Given the description of an element on the screen output the (x, y) to click on. 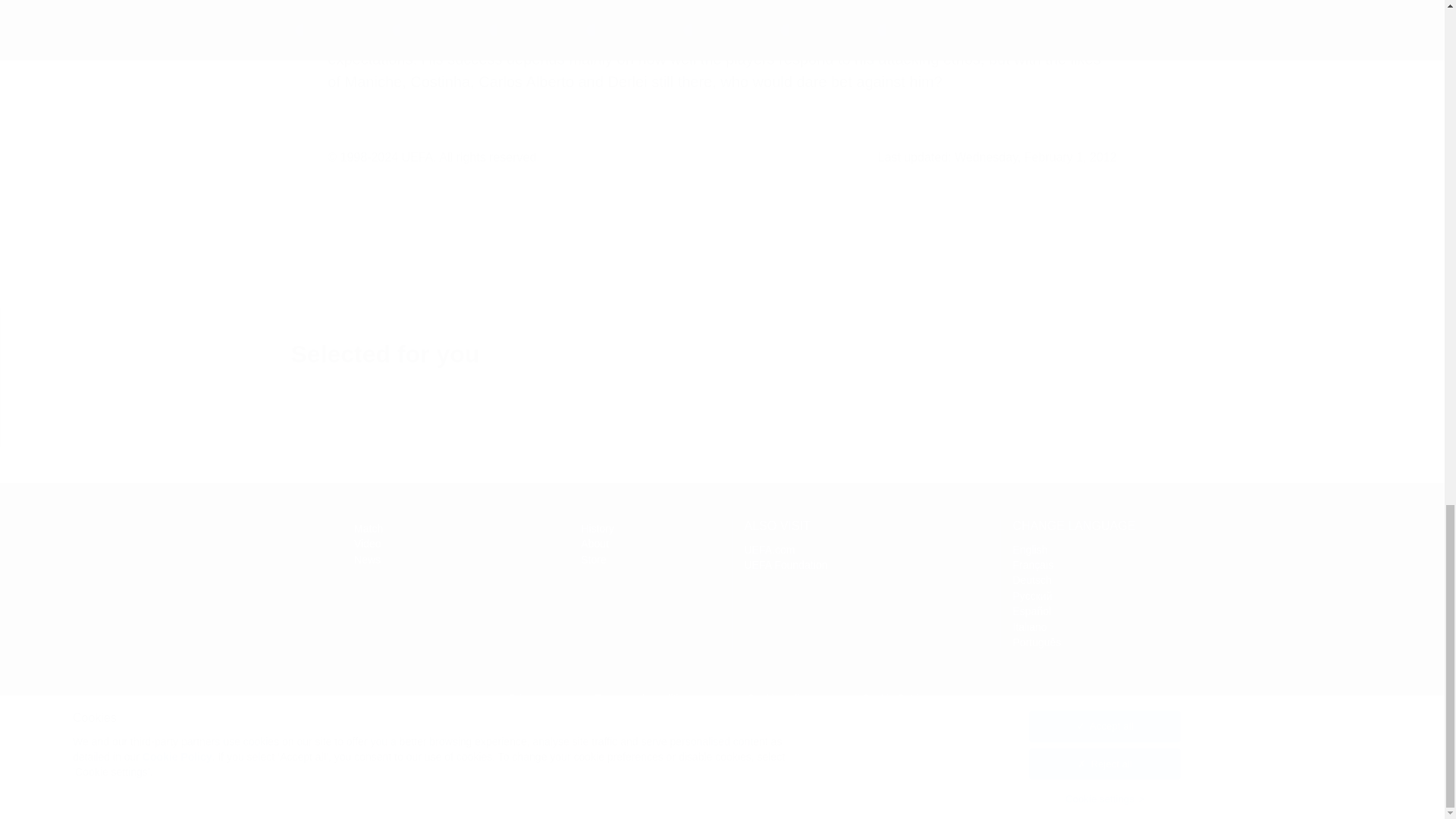
About (594, 543)
UEFA Super Cup (223, 548)
English (1030, 549)
Video (367, 543)
News (366, 559)
Cookie policy (777, 698)
News (366, 559)
Italiano (1029, 626)
Deutsch (1032, 580)
Match (223, 548)
UEFA.com (367, 528)
Store (769, 549)
History (592, 559)
UEFA.com (597, 528)
